Given the description of an element on the screen output the (x, y) to click on. 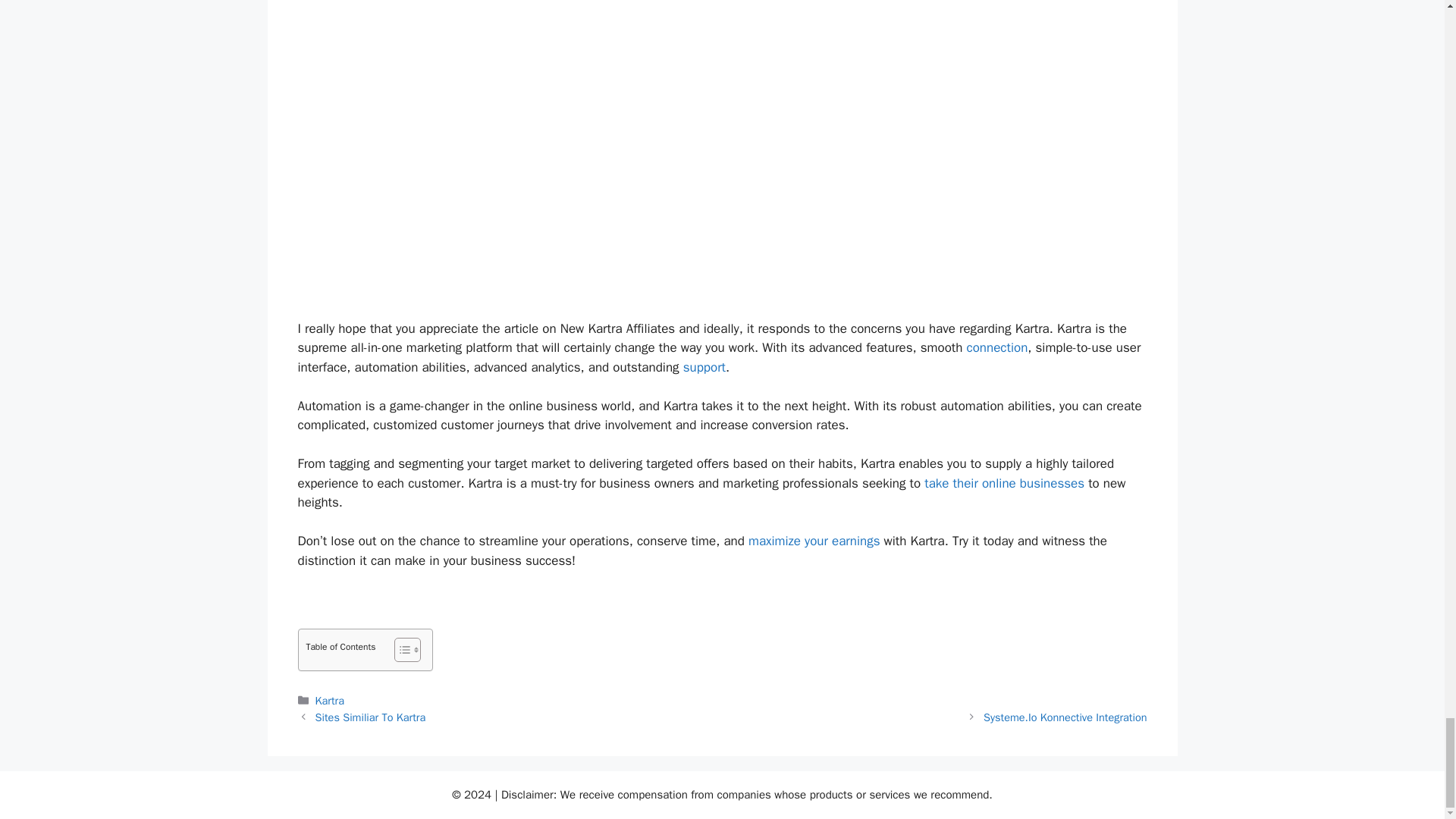
take their online businesses (1004, 483)
support (703, 367)
maximize your earnings (814, 540)
connection (996, 347)
